Given the description of an element on the screen output the (x, y) to click on. 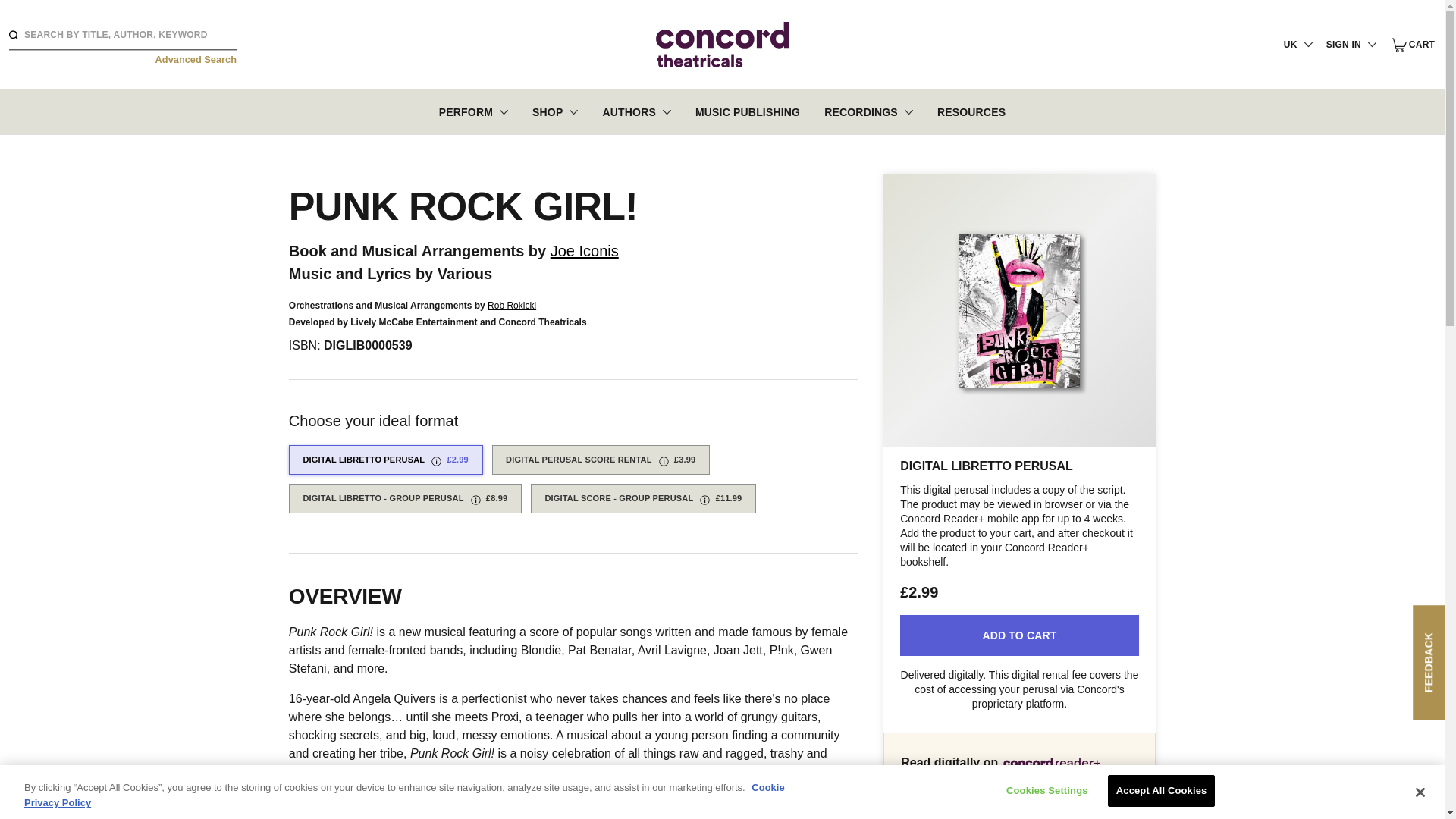
Sign In (1302, 268)
Advanced Search (195, 59)
UK (1298, 44)
Header logo (722, 44)
CART (1412, 44)
PERFORM (473, 110)
MUSIC PUBLISHING (747, 110)
Advanced Search (195, 59)
SIGN IN (1350, 44)
RECORDINGS (868, 110)
SHOP (555, 110)
RESOURCES (971, 110)
AUTHORS (635, 110)
